Given the description of an element on the screen output the (x, y) to click on. 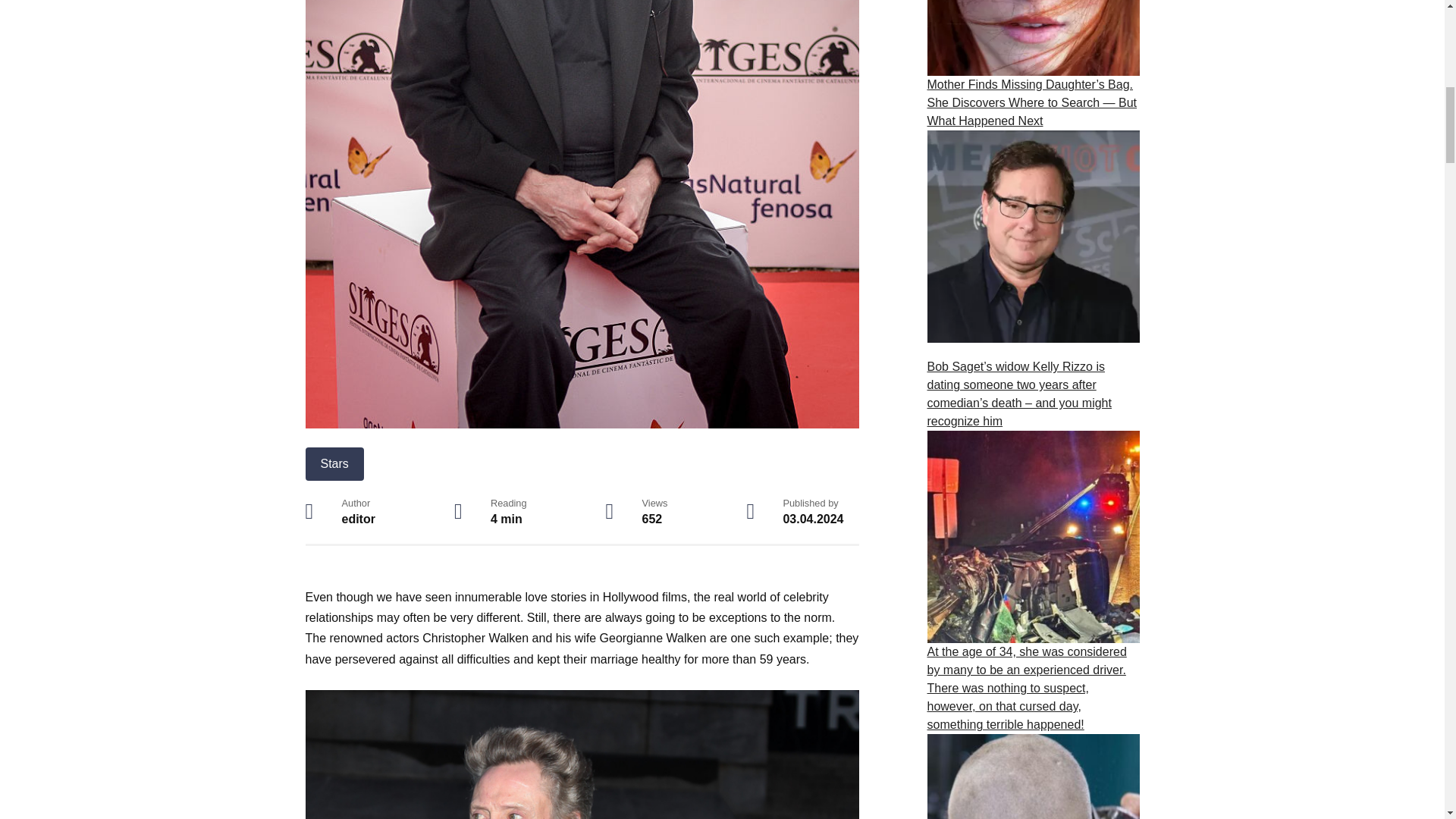
Stars (333, 463)
